Given the description of an element on the screen output the (x, y) to click on. 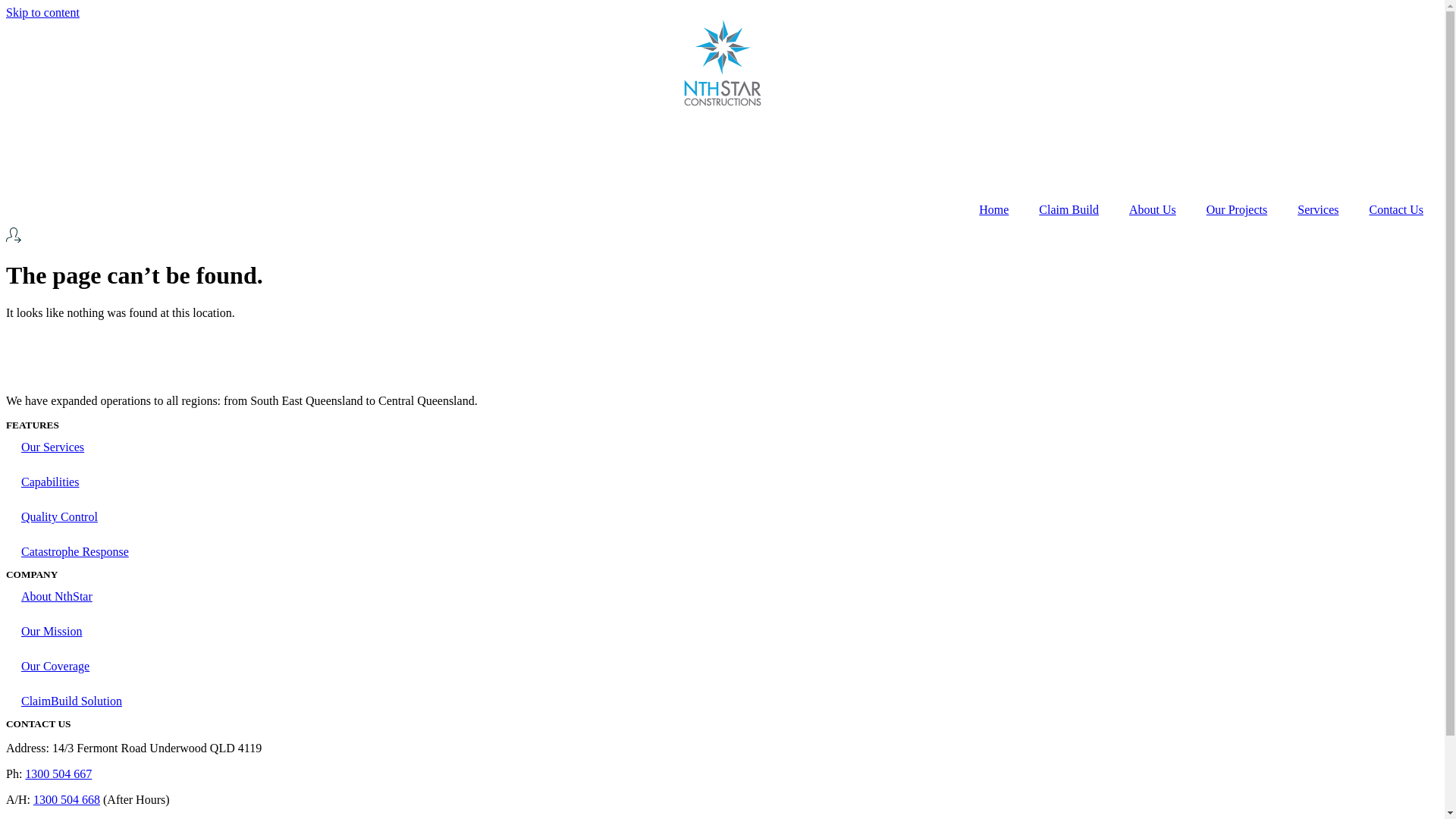
Services Element type: text (1317, 209)
Home Element type: text (993, 209)
Quality Control Element type: text (722, 516)
ClaimBuild Solution Element type: text (722, 701)
About Us Element type: text (1152, 209)
Our Services Element type: text (722, 446)
1300 504 668 Element type: text (66, 799)
1300 504 667 Element type: text (58, 773)
Contact Us Element type: text (1395, 209)
Our Coverage Element type: text (722, 666)
About NthStar Element type: text (722, 596)
Catastrophe Response Element type: text (722, 551)
Claim Build Element type: text (1068, 209)
Our Mission Element type: text (722, 631)
Capabilities Element type: text (722, 481)
Our Projects Element type: text (1236, 209)
Skip to content Element type: text (42, 12)
